Given the description of an element on the screen output the (x, y) to click on. 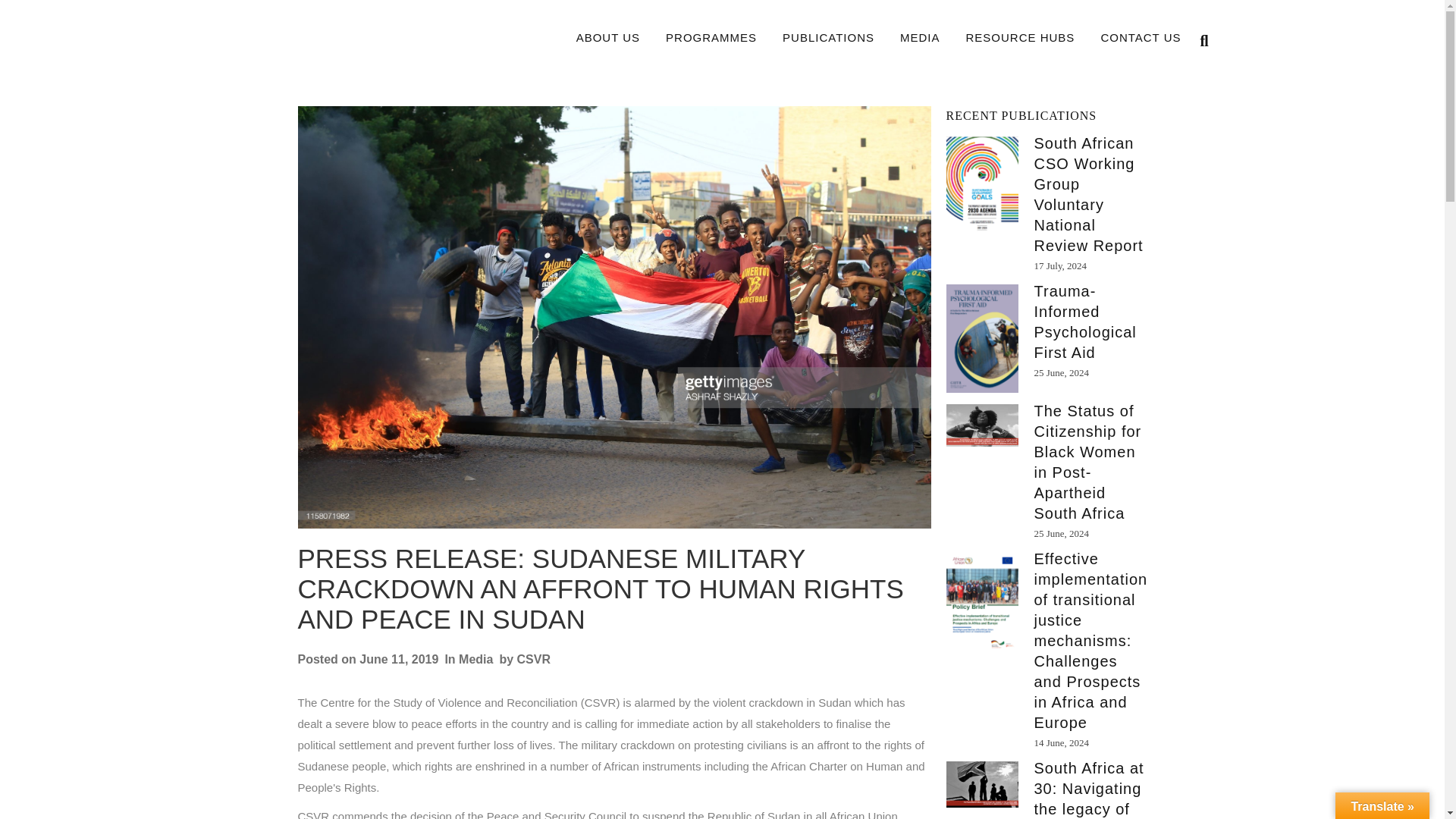
CONTACT US (1140, 38)
ABOUT US (607, 38)
PUBLICATIONS (828, 38)
PROGRAMMES (711, 38)
RESOURCE HUBS (1020, 38)
